Given the description of an element on the screen output the (x, y) to click on. 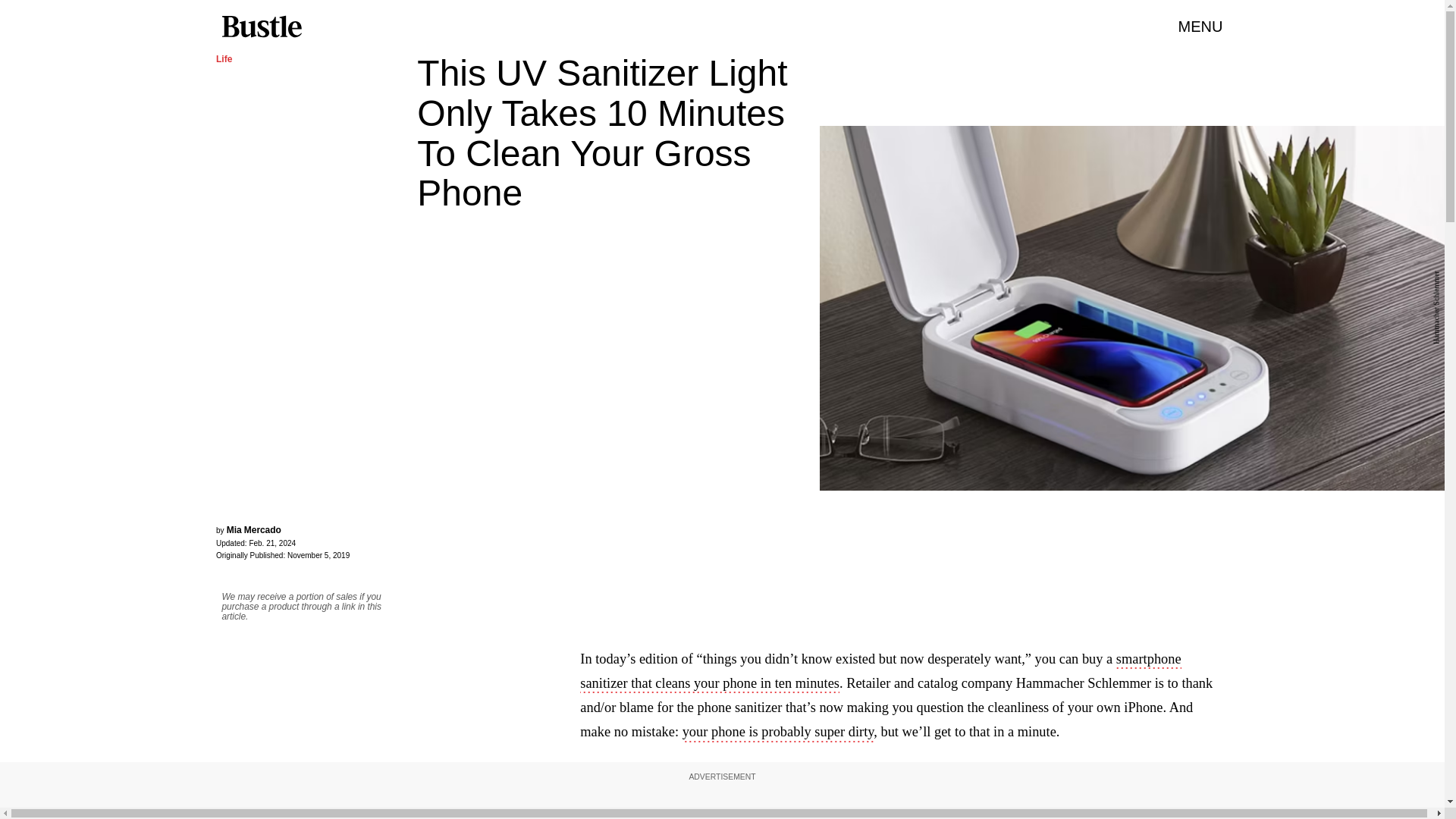
smartphone sanitizer that cleans your phone in ten minutes (879, 672)
Bustle (261, 26)
your phone is probably super dirty (778, 732)
